Given the description of an element on the screen output the (x, y) to click on. 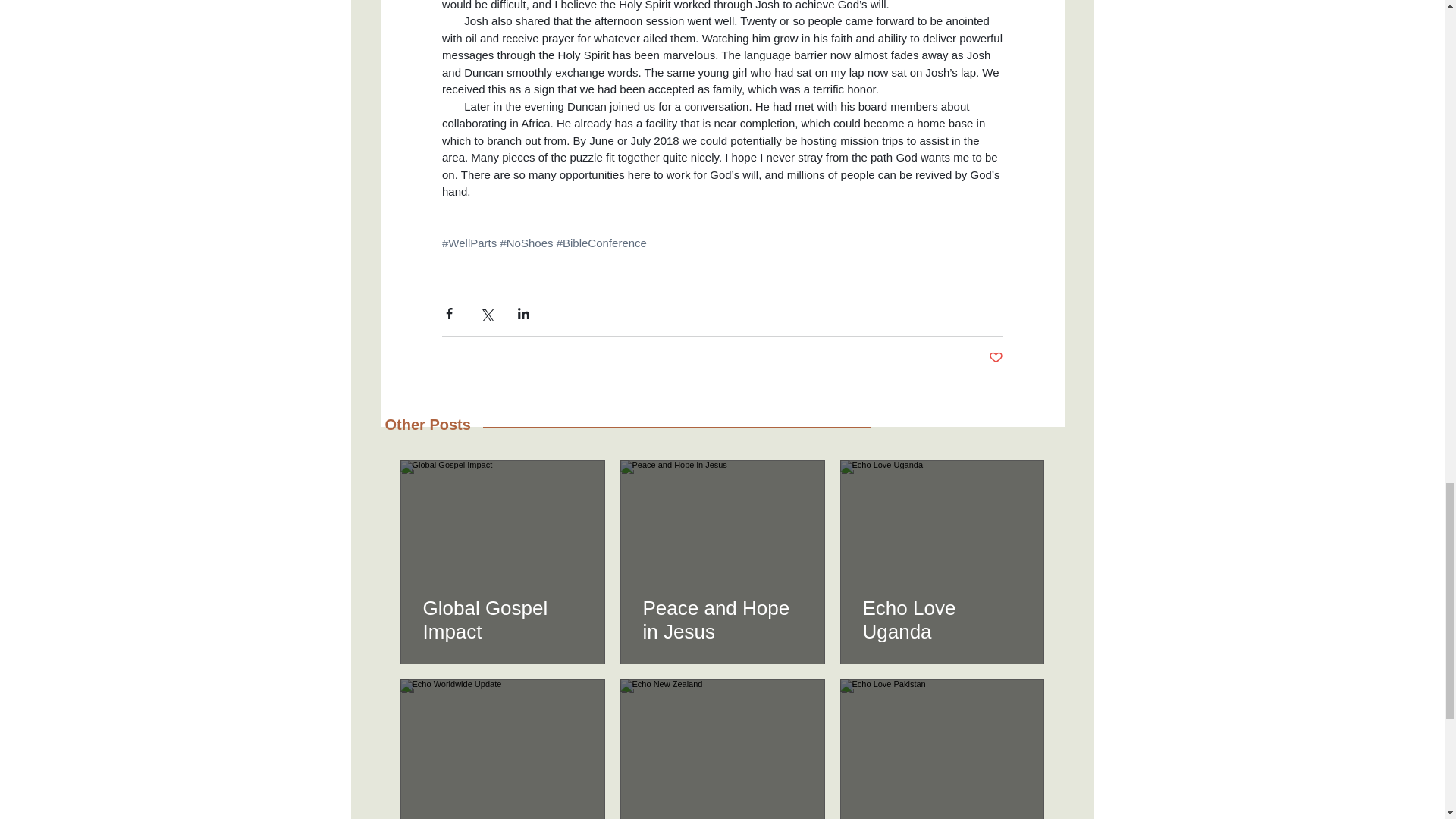
Global Gospel Impact (502, 619)
Echo Love Uganda (942, 619)
Echo New Zealand (722, 816)
Echo Worldwide Update (502, 816)
Post not marked as liked (995, 358)
Peace and Hope in Jesus (722, 619)
Echo Love Pakistan (942, 816)
